Given the description of an element on the screen output the (x, y) to click on. 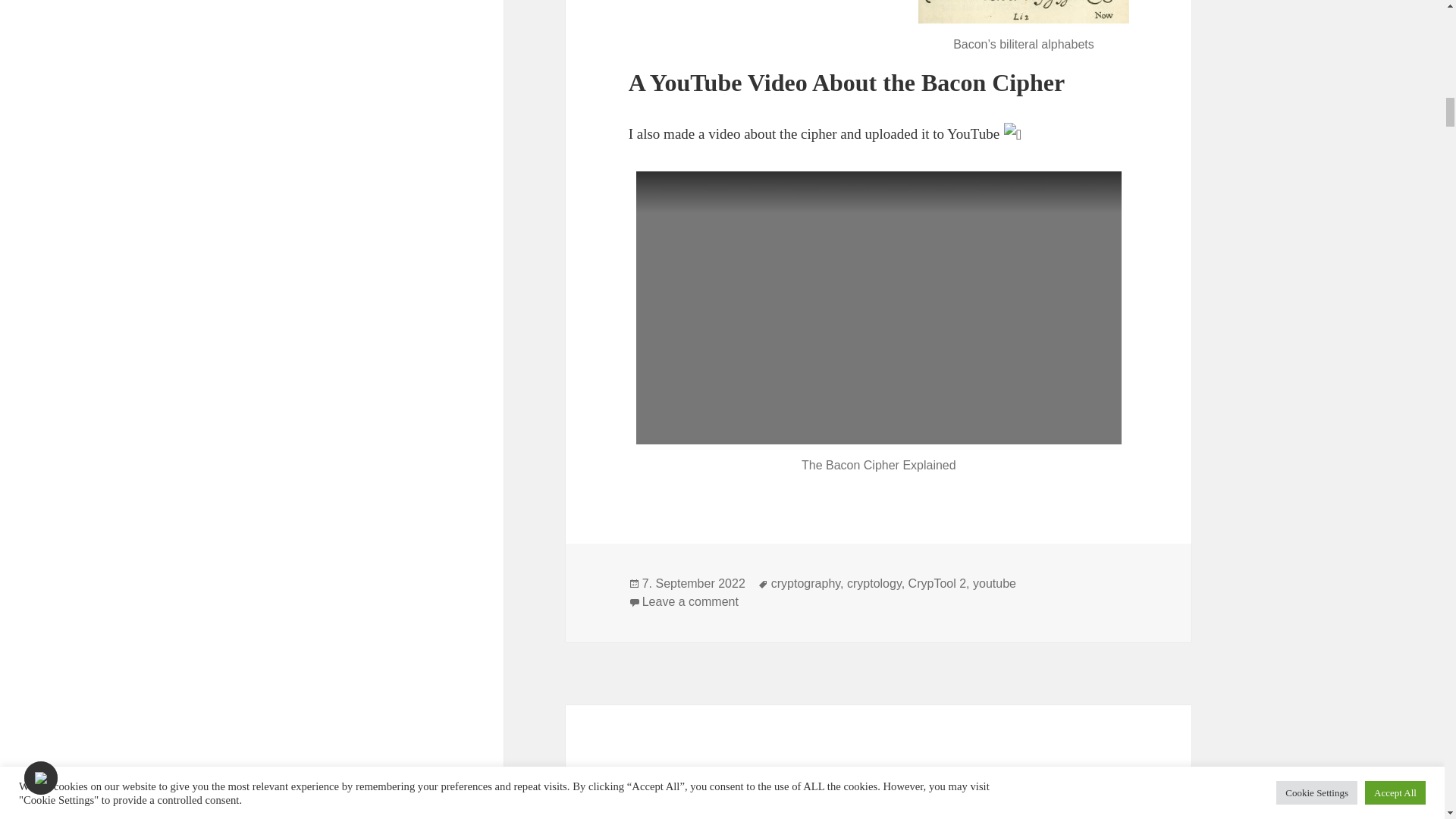
Block Cipher Padding (768, 785)
CrypTool 2 (690, 602)
youtube (937, 583)
7. September 2022 (994, 583)
cryptography (693, 583)
cryptology (805, 583)
